Given the description of an element on the screen output the (x, y) to click on. 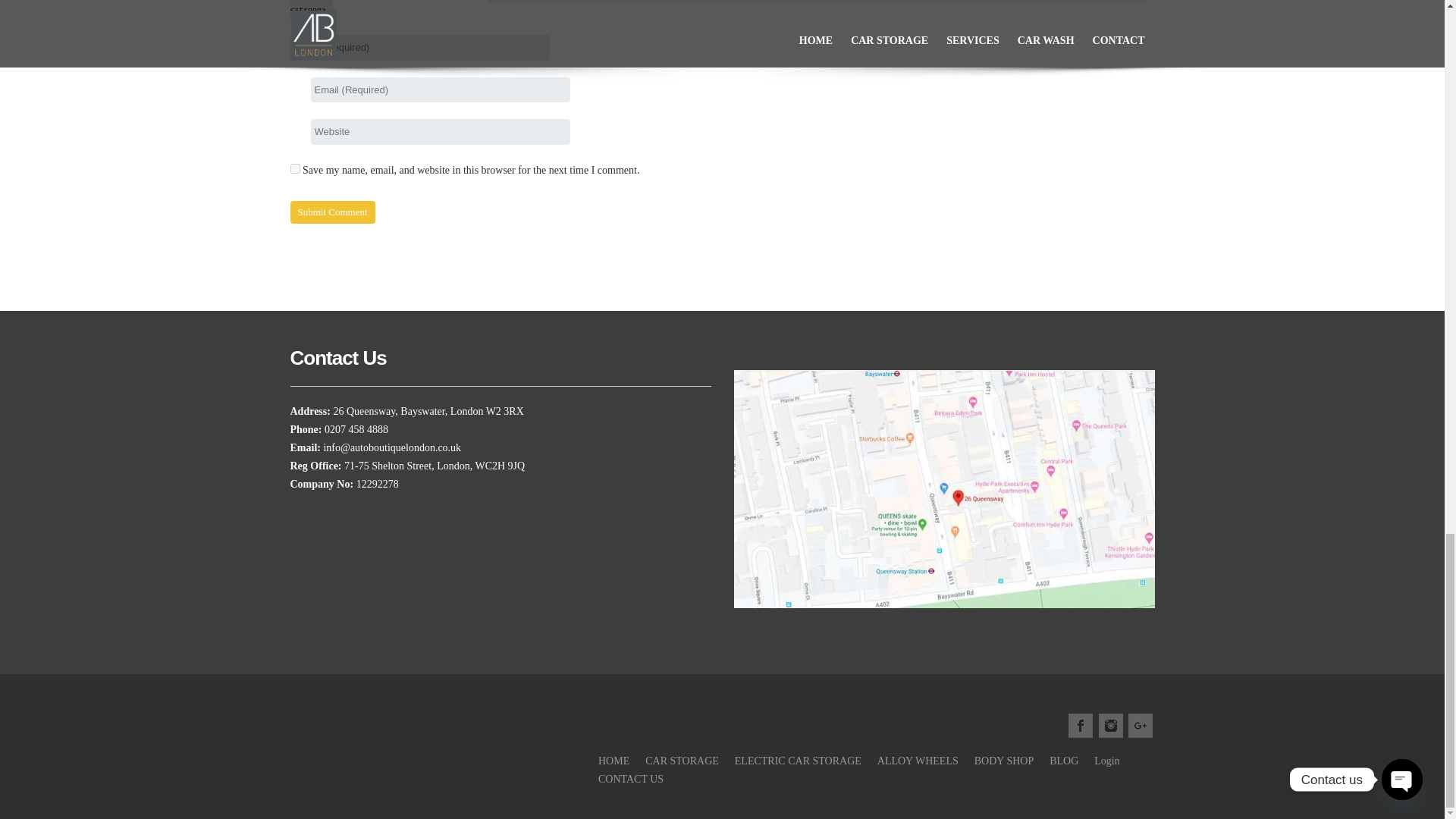
ELECTRIC CAR STORAGE (798, 760)
Submit Comment (331, 211)
Submit Comment (331, 211)
ALLOY WHEELS (917, 760)
yes (294, 167)
CAR STORAGE (682, 760)
HOME (613, 760)
